Given the description of an element on the screen output the (x, y) to click on. 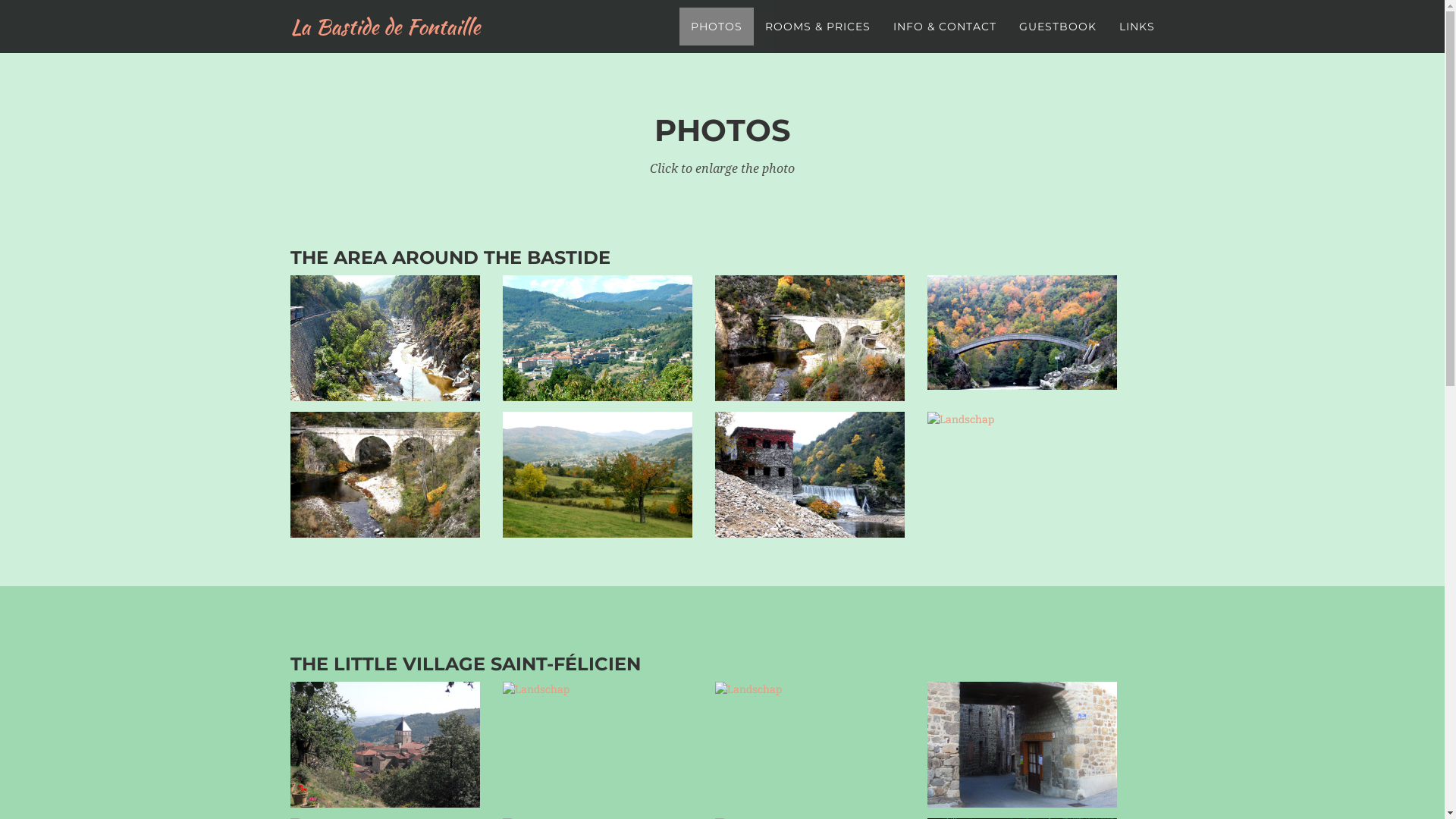
PHOTOS Element type: text (716, 26)
ROOMS & PRICES Element type: text (817, 26)
GUESTBOOK Element type: text (1057, 26)
LINKS Element type: text (1136, 26)
INFO & CONTACT Element type: text (944, 26)
La Bastide de Fontaille Element type: text (385, 26)
